Given the description of an element on the screen output the (x, y) to click on. 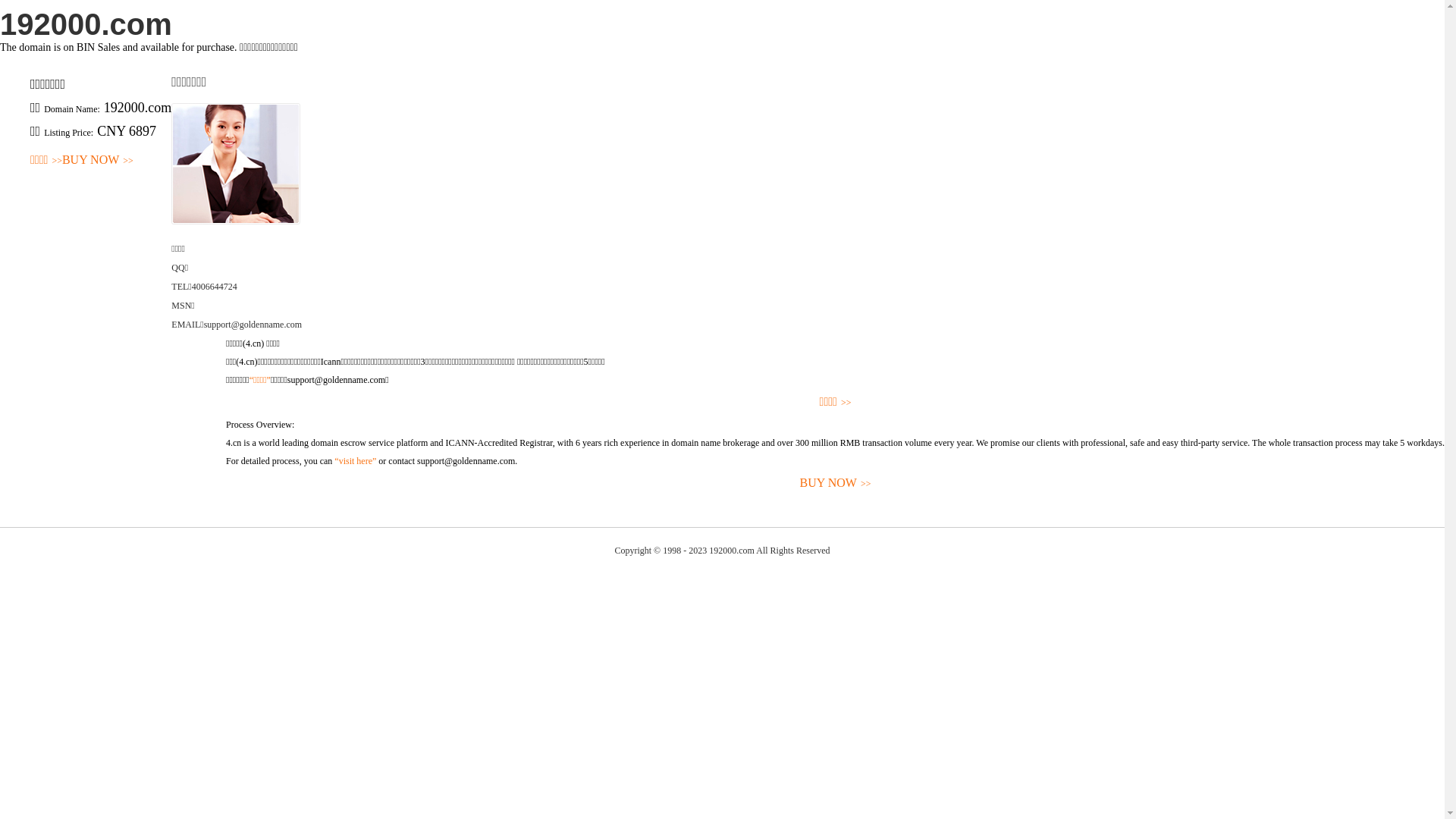
BUY NOW>> Element type: text (834, 483)
BUY NOW>> Element type: text (97, 160)
